Given the description of an element on the screen output the (x, y) to click on. 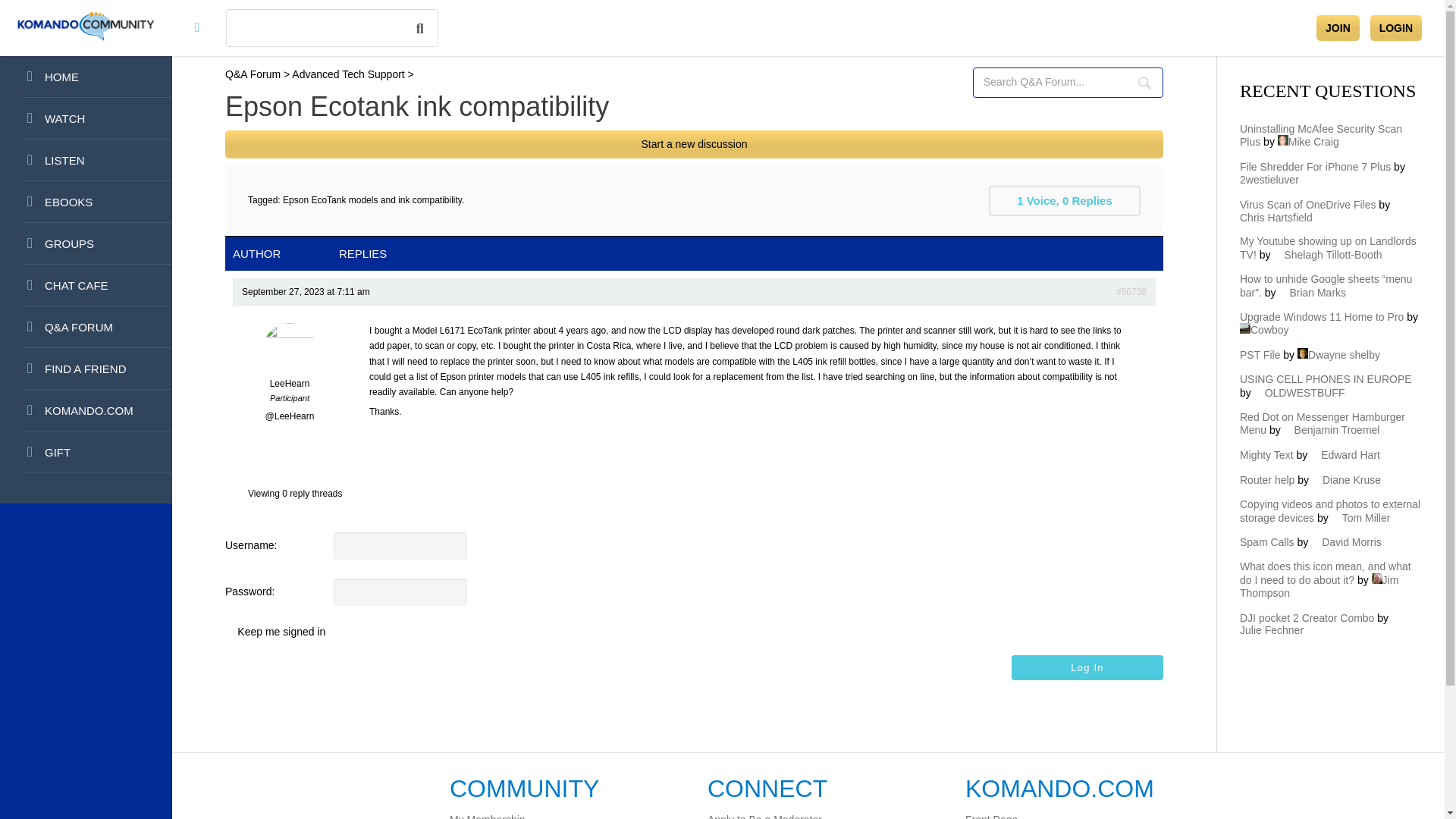
View Dwayne shelby's profile (1338, 354)
KOMANDO.COM (85, 410)
View Benjamin Troemel's profile (1332, 429)
JOIN (1337, 27)
WATCH (85, 118)
Epson Ecotank ink compatibility (1131, 291)
View Brian Marks's profile (1311, 292)
View Edward Hart's profile (1345, 454)
LOGIN (1396, 27)
View Shelagh Tillott-Booth's profile (1326, 254)
